Given the description of an element on the screen output the (x, y) to click on. 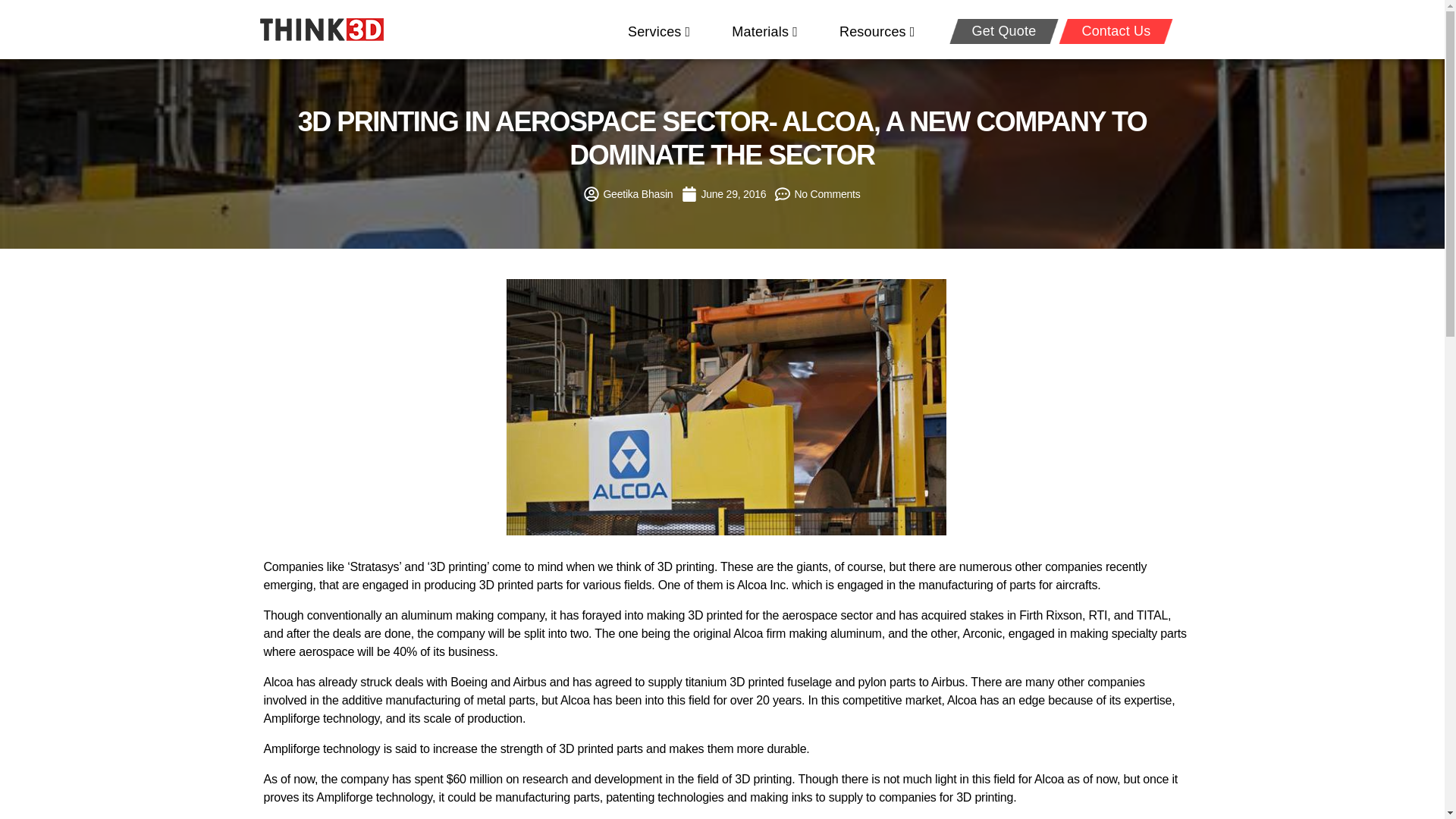
Materials (764, 31)
Services (658, 31)
